Given the description of an element on the screen output the (x, y) to click on. 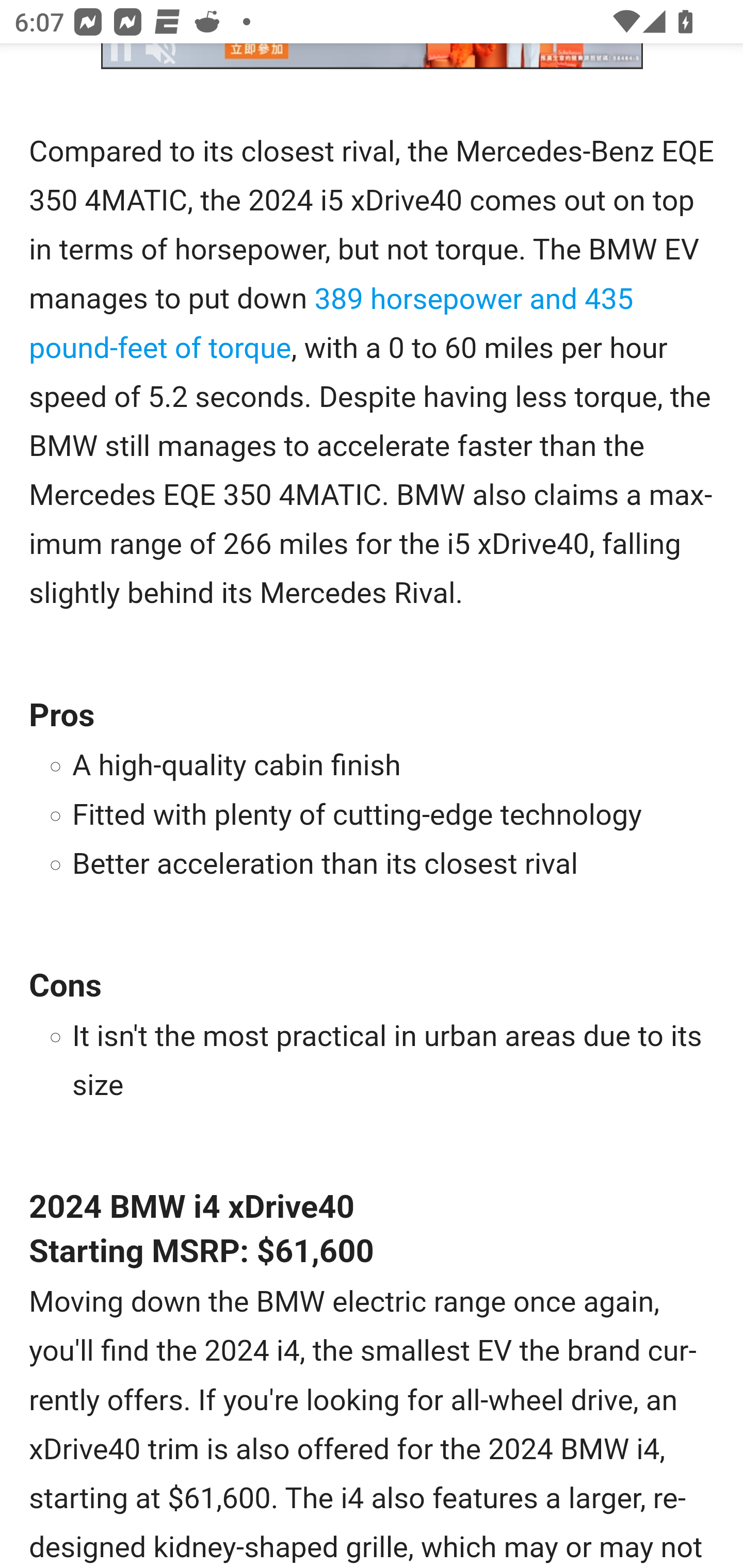
389 horsepower and 435 pound-feet of torque (330, 323)
